Given the description of an element on the screen output the (x, y) to click on. 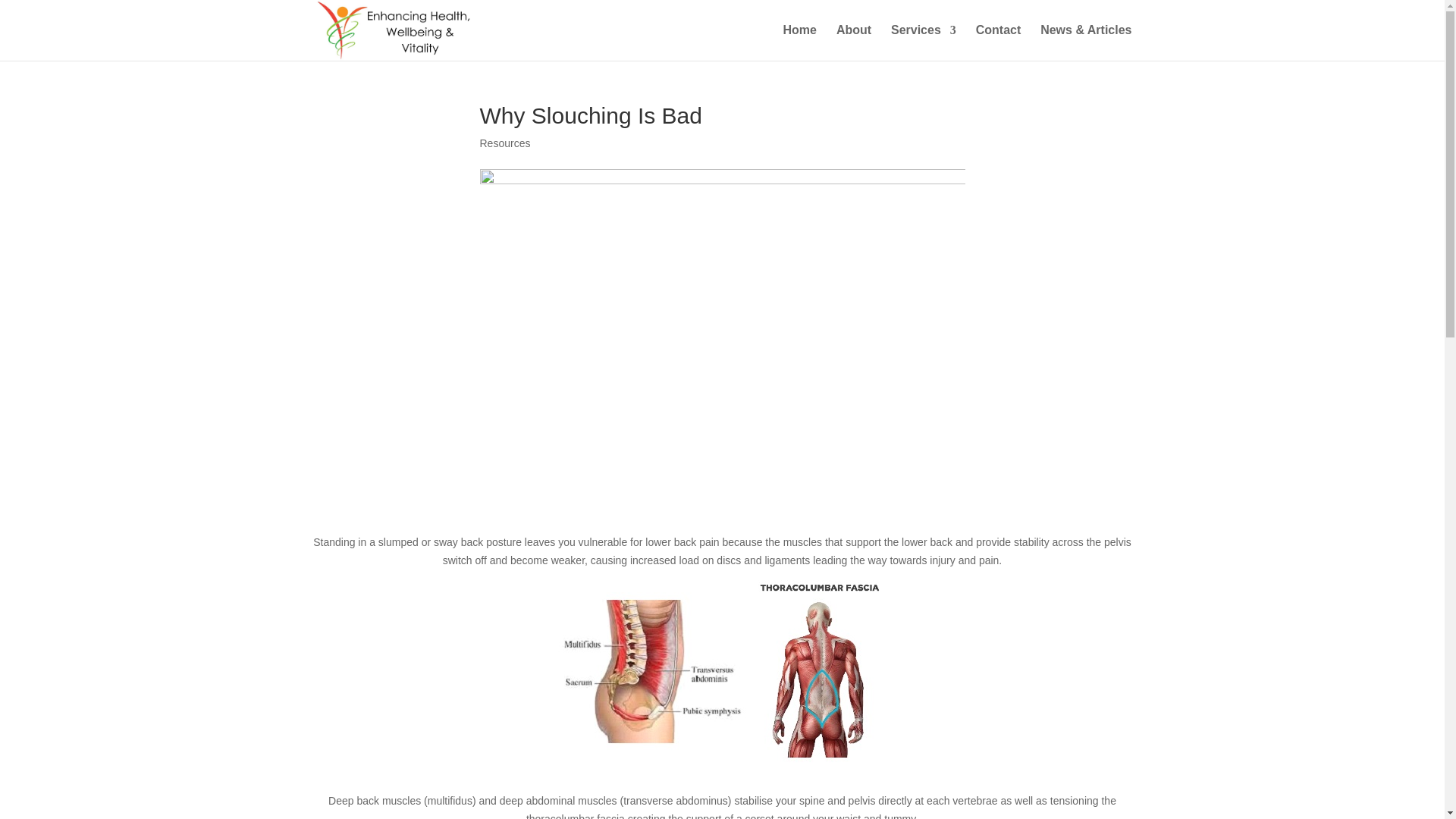
Resources Element type: text (504, 143)
News & Articles Element type: text (1085, 42)
Services Element type: text (923, 42)
Home Element type: text (799, 42)
About Element type: text (853, 42)
Contact Element type: text (998, 42)
